Given the description of an element on the screen output the (x, y) to click on. 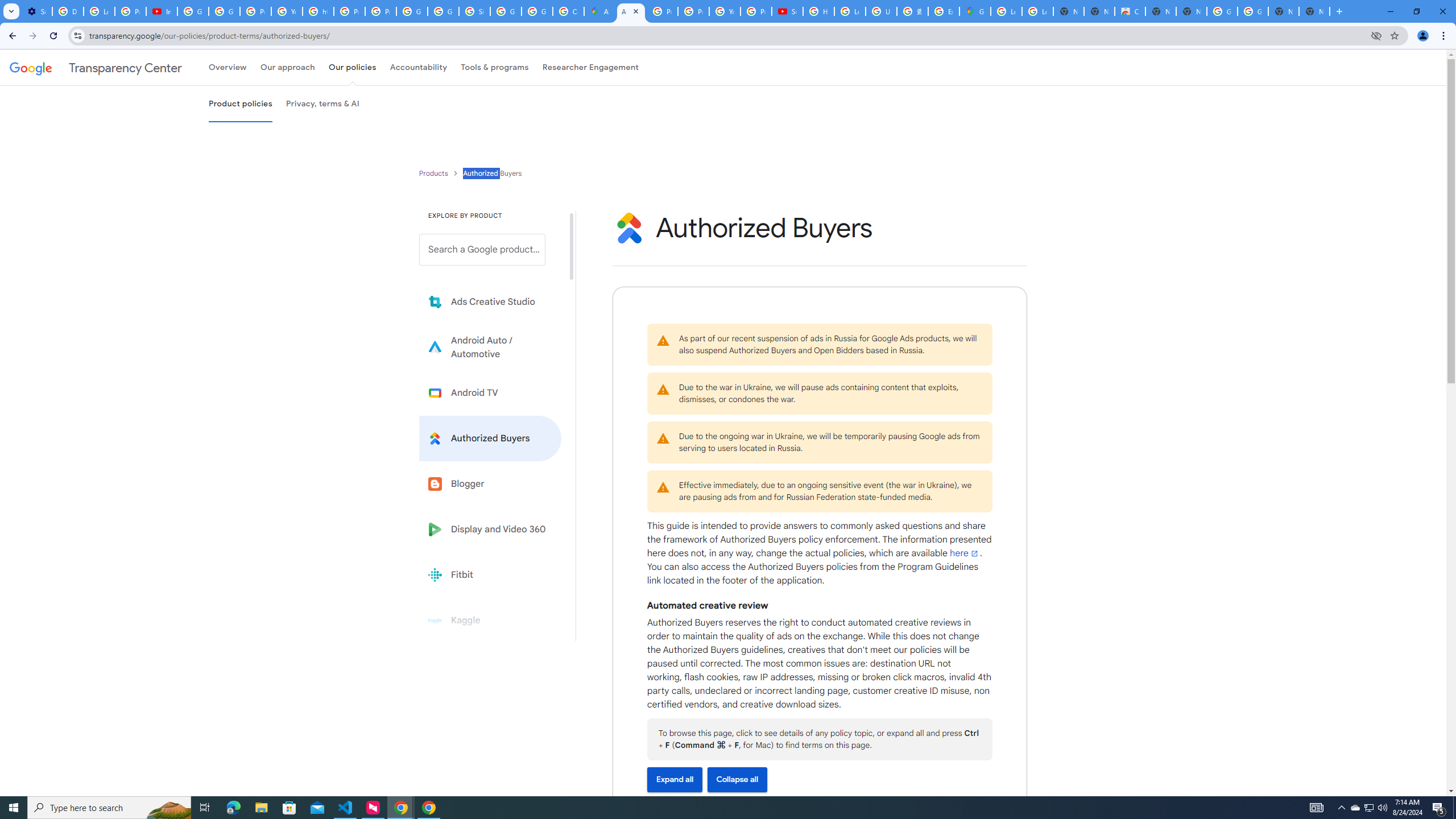
Fitbit (490, 574)
Learn more about Authorized Buyers (490, 438)
Google Account Help (192, 11)
Privacy Help Center - Policies Help (662, 11)
here (964, 553)
Explore new street-level details - Google Maps Help (943, 11)
YouTube (286, 11)
Third-party cookies blocked (1376, 35)
